Given the description of an element on the screen output the (x, y) to click on. 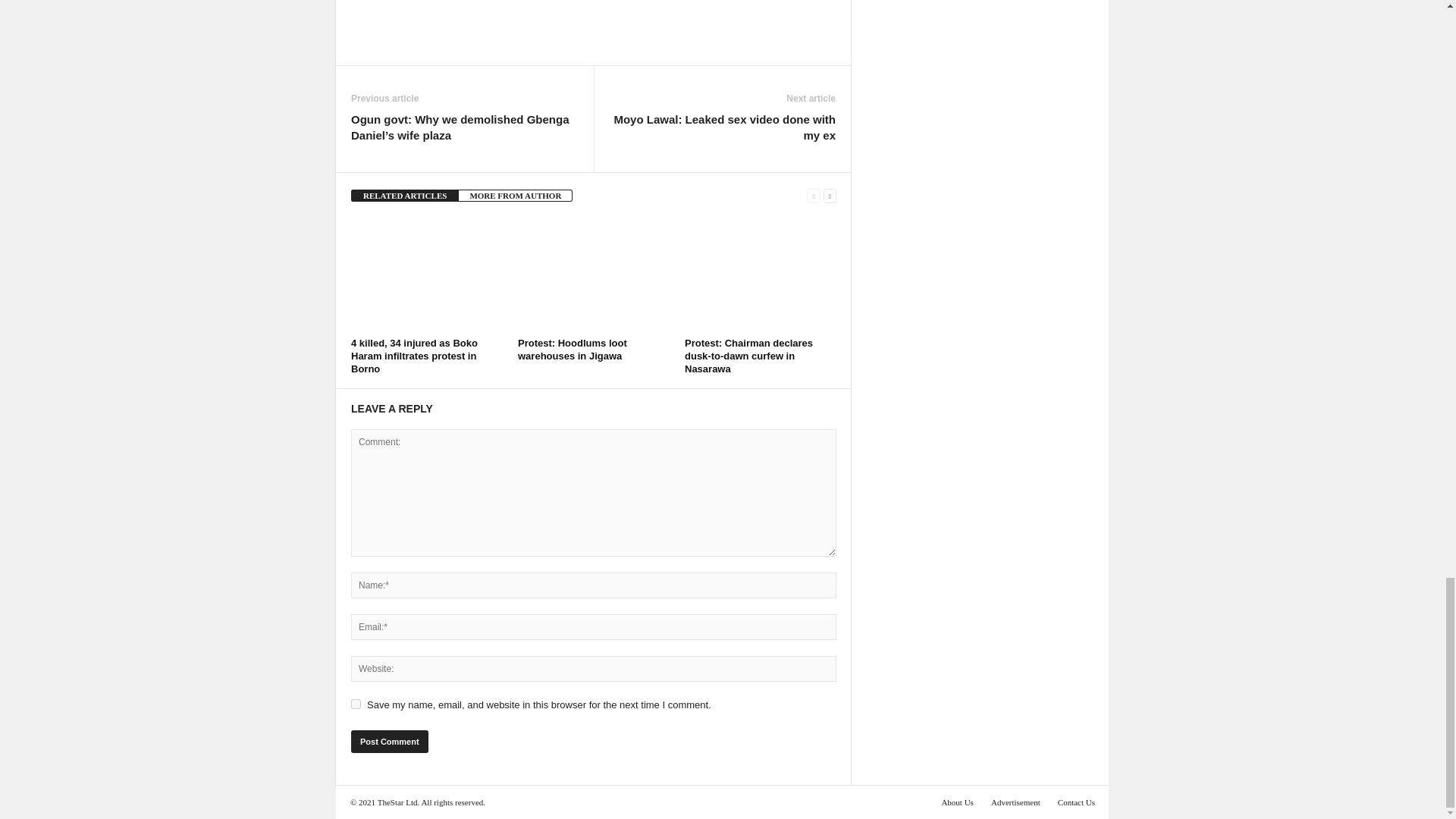
Post Comment (389, 741)
yes (355, 704)
